Given the description of an element on the screen output the (x, y) to click on. 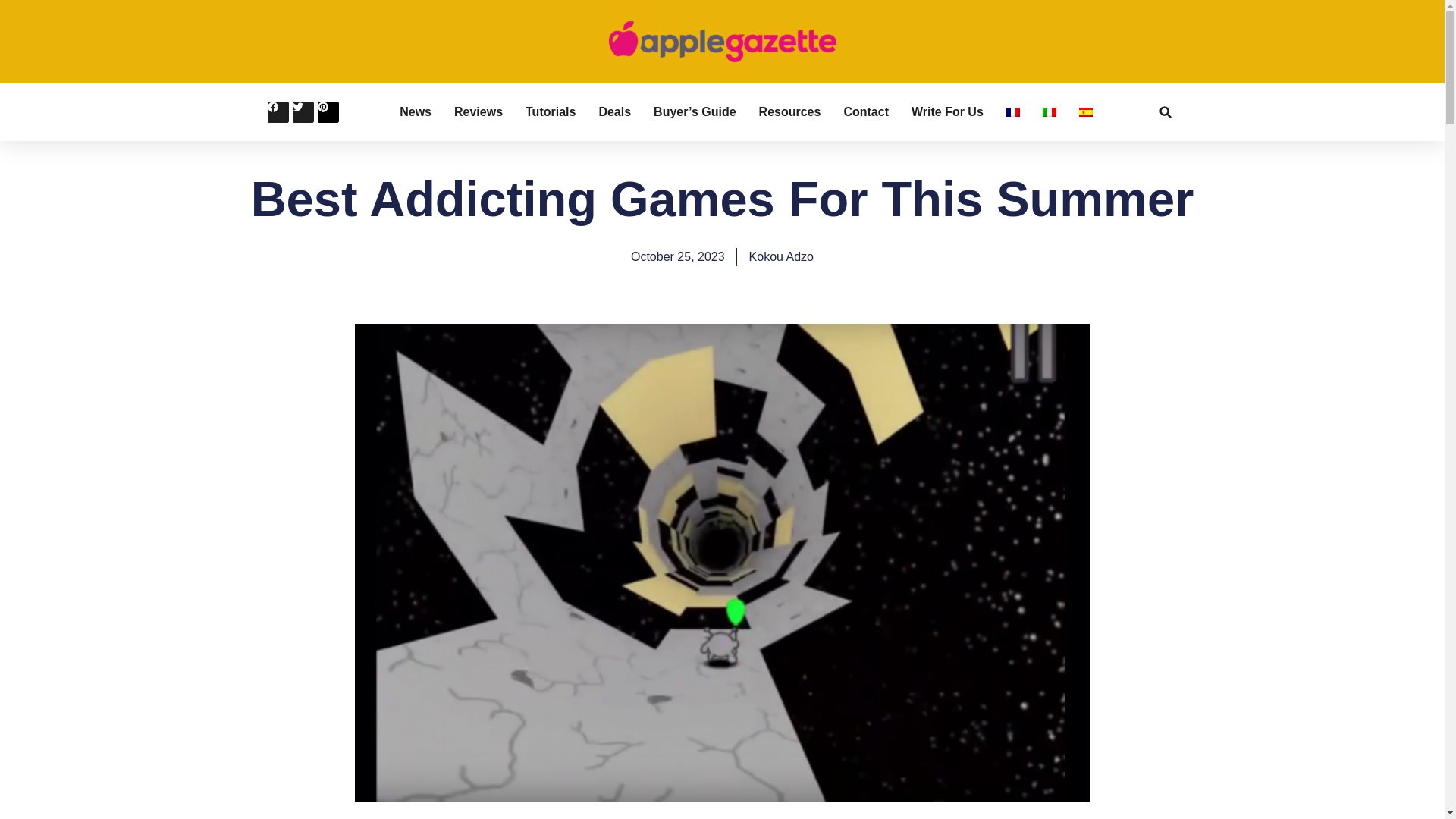
News (414, 112)
Write For Us (947, 112)
Tutorials (550, 112)
Resources (789, 112)
Reviews (478, 112)
Deals (614, 112)
Contact (865, 112)
